Given the description of an element on the screen output the (x, y) to click on. 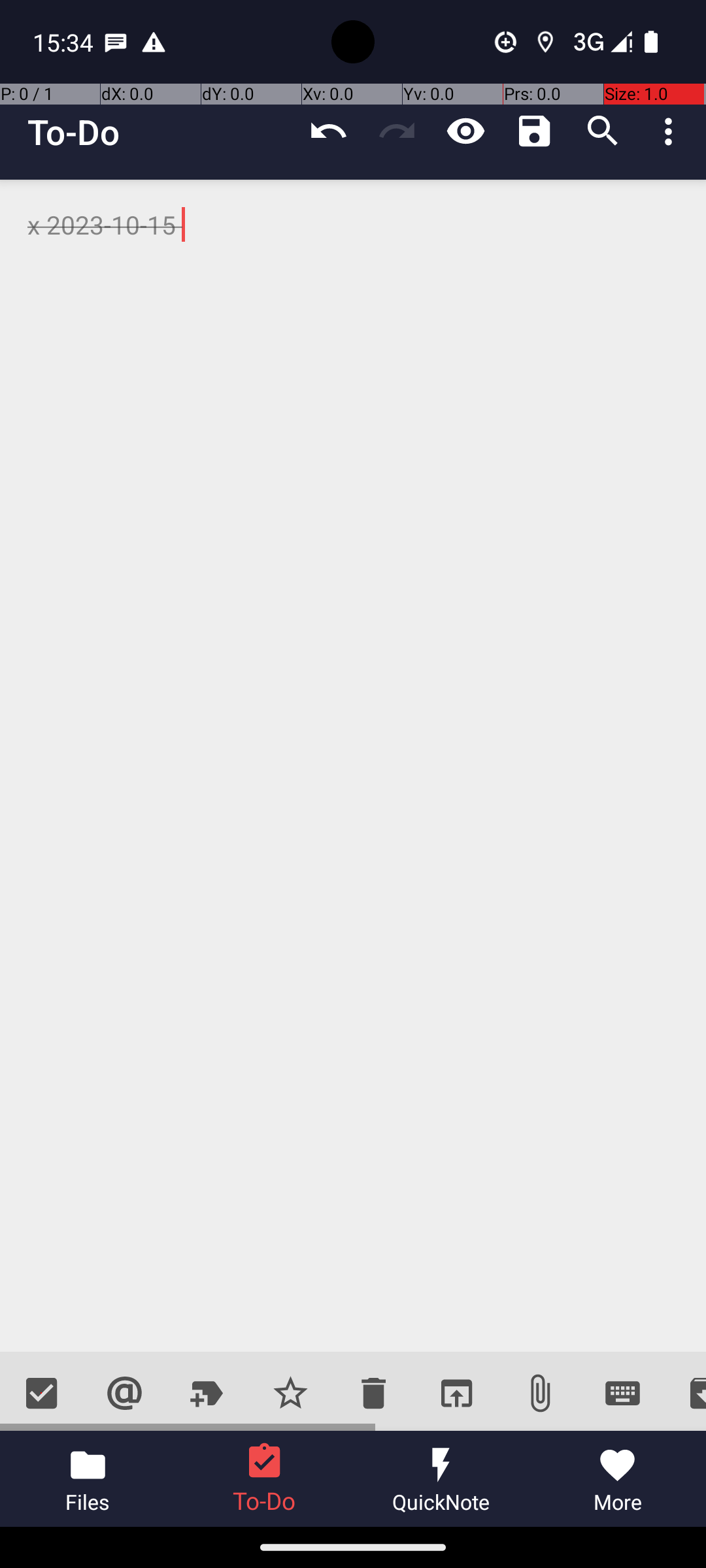
x 2023-10-15  Element type: android.widget.EditText (353, 765)
